Given the description of an element on the screen output the (x, y) to click on. 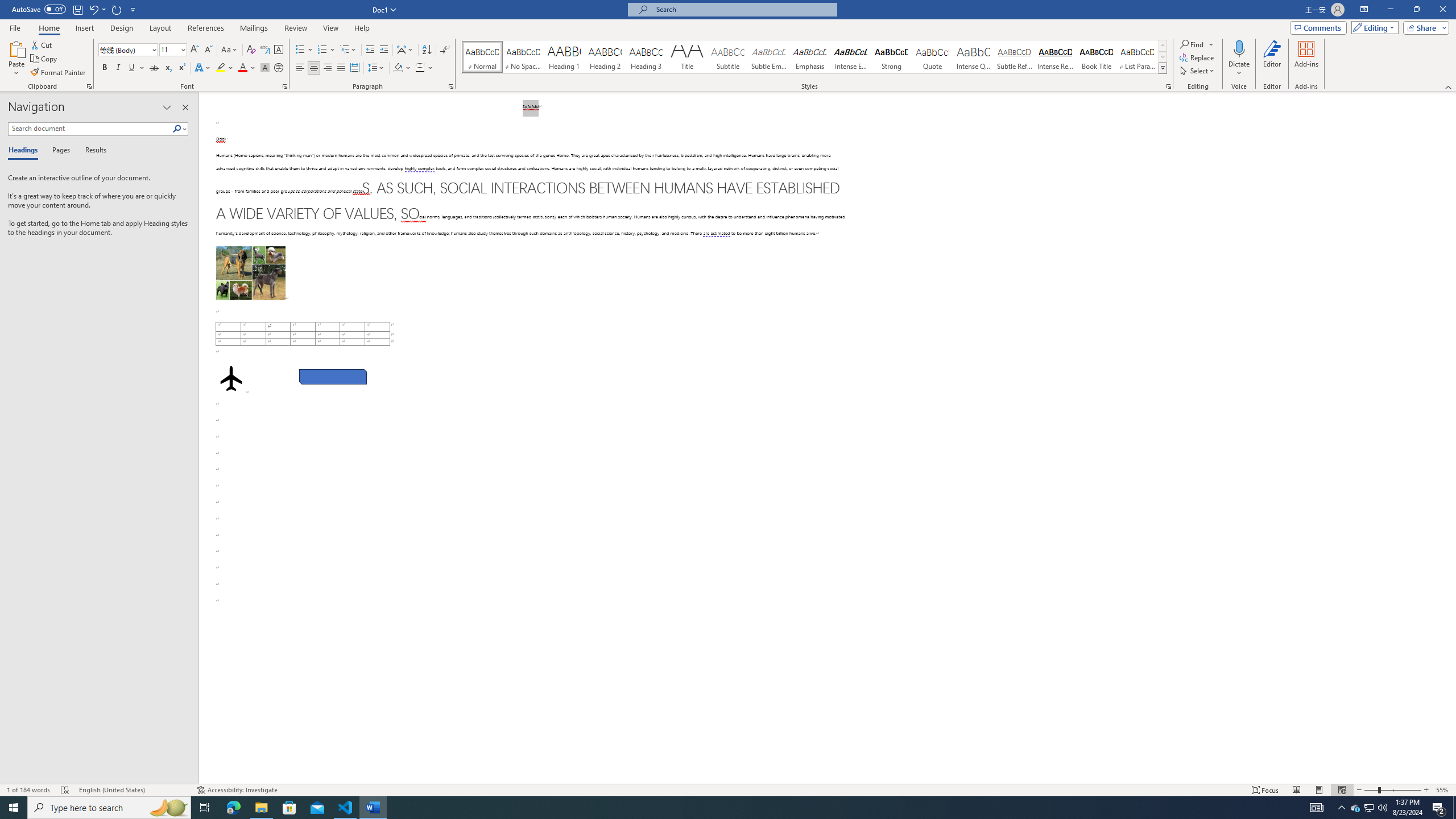
Heading 3 (646, 56)
Repeat Paragraph Alignment (117, 9)
